Given the description of an element on the screen output the (x, y) to click on. 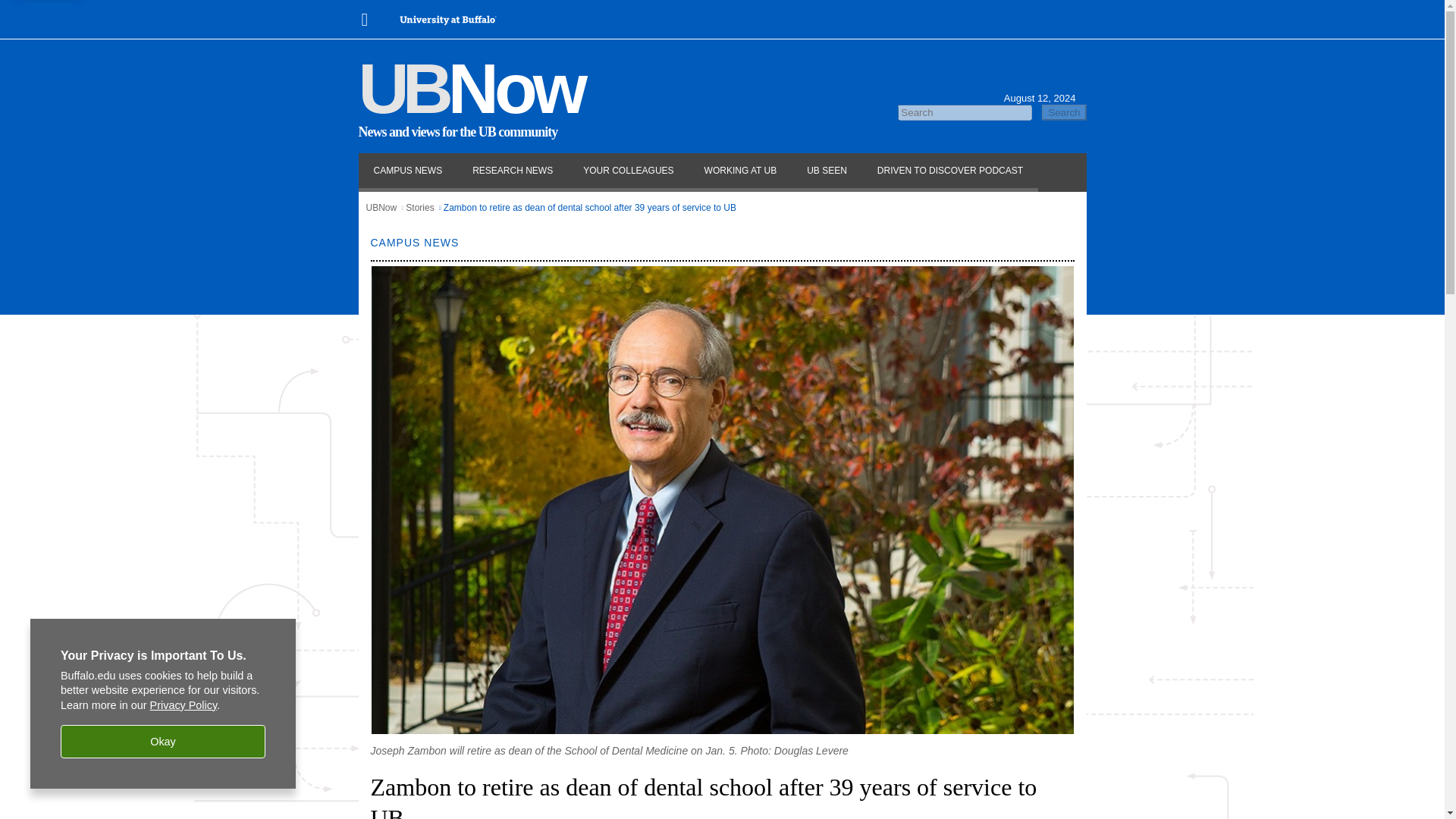
Okay (162, 741)
WORKING AT UB (740, 172)
Stories (419, 207)
Privacy Policy (182, 705)
Search (1064, 112)
RESEARCH NEWS (512, 172)
UB SEEN (826, 172)
UBNow (380, 207)
Search (1064, 112)
YOUR COLLEAGUES (627, 172)
